Given the description of an element on the screen output the (x, y) to click on. 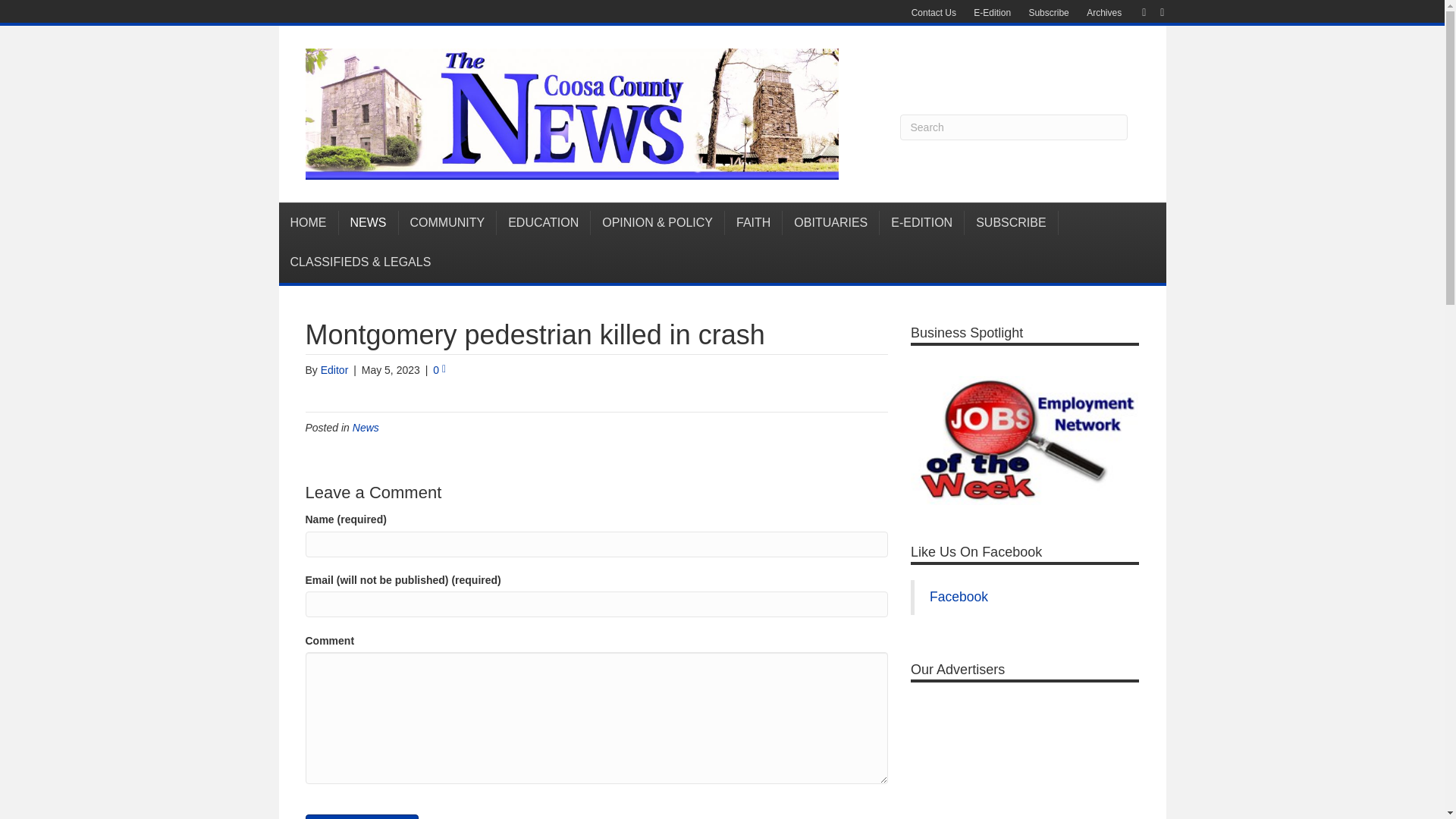
Archives (1103, 13)
E-Edition (991, 13)
Email (1154, 11)
NEWS (367, 222)
Type and press Enter to search. (1012, 127)
EDUCATION (543, 222)
0 (438, 369)
Editor (334, 369)
FAITH (754, 222)
HOME (309, 222)
Submit Comment (361, 816)
OBITUARIES (831, 222)
COMMUNITY (447, 222)
Facebook (1135, 11)
Subscribe (1047, 13)
